Given the description of an element on the screen output the (x, y) to click on. 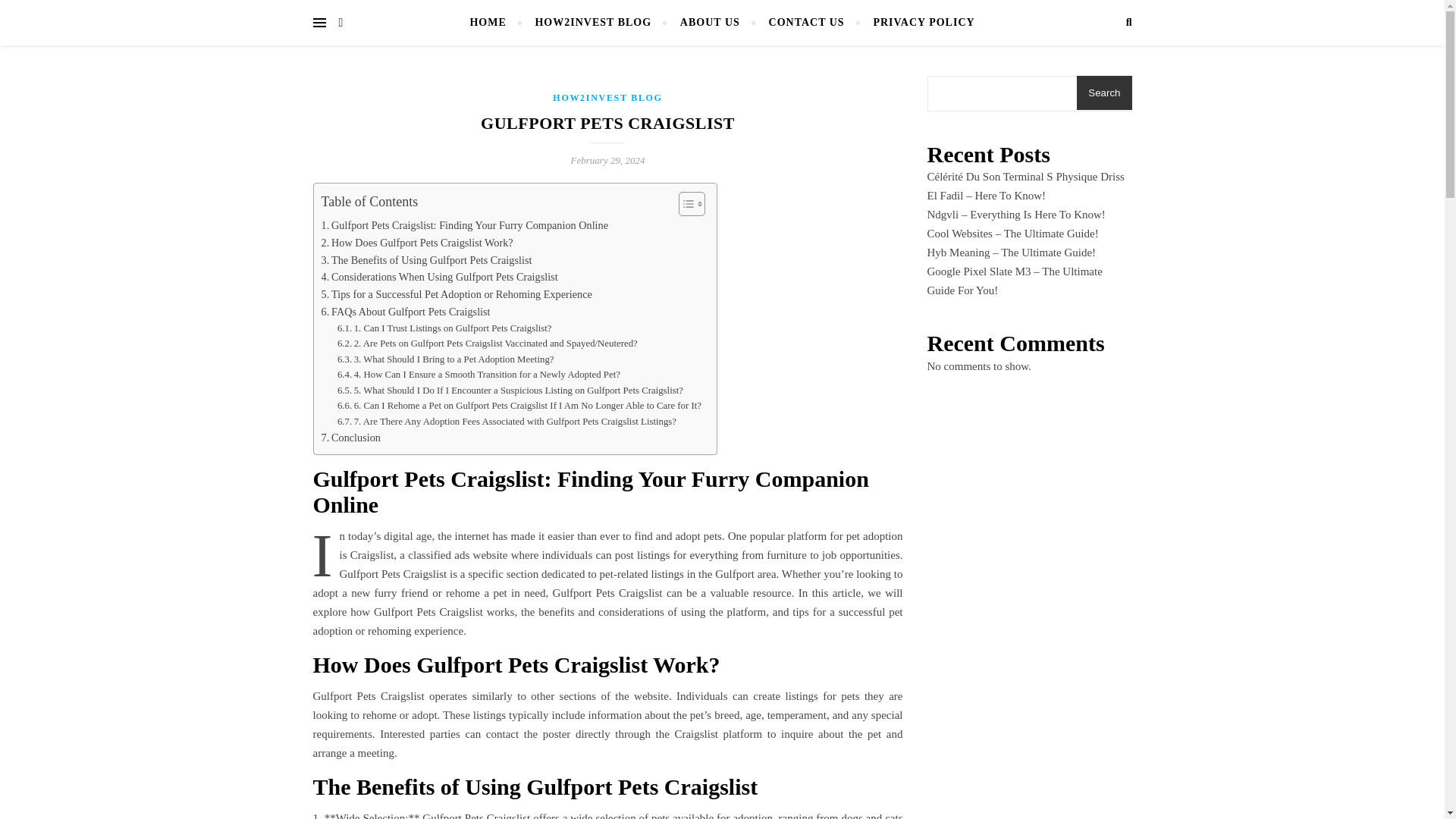
HOW2INVEST BLOG (592, 22)
3. What Should I Bring to a Pet Adoption Meeting? (445, 359)
Tips for a Successful Pet Adoption or Rehoming Experience (456, 294)
HOW2INVEST BLOG (607, 97)
Conclusion (350, 437)
